Given the description of an element on the screen output the (x, y) to click on. 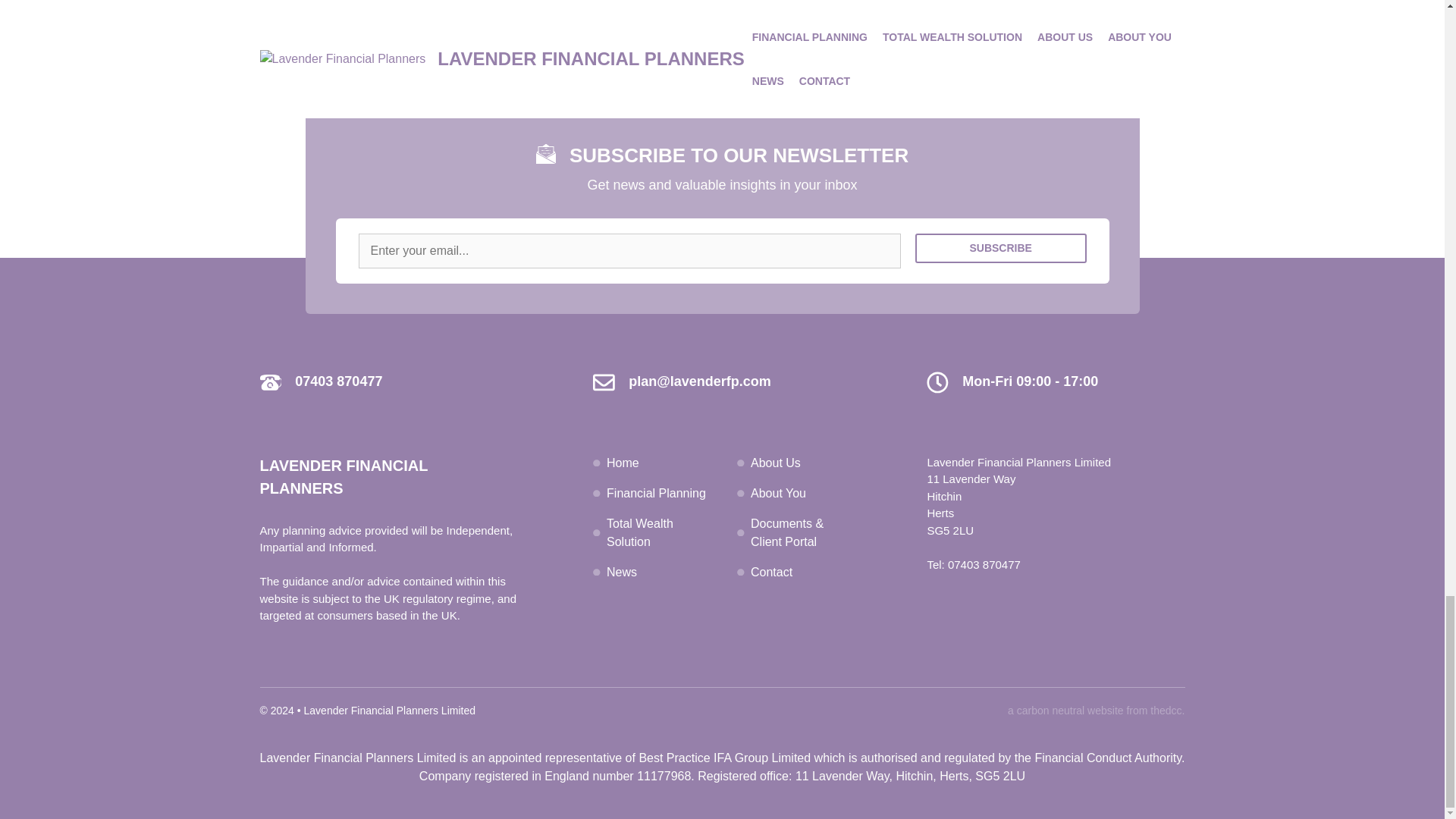
News (622, 571)
07403 870477 (983, 563)
Total Wealth Solution (639, 531)
Home (623, 461)
About Us (775, 461)
Subscribe (1000, 252)
Contact (771, 571)
a carbon neutral website from thedcc. (1096, 710)
Financial Planning (656, 492)
07403 870477 (338, 381)
Subscribe (1000, 252)
About You (778, 492)
READ MORE TESTIMONIALS (722, 38)
